Given the description of an element on the screen output the (x, y) to click on. 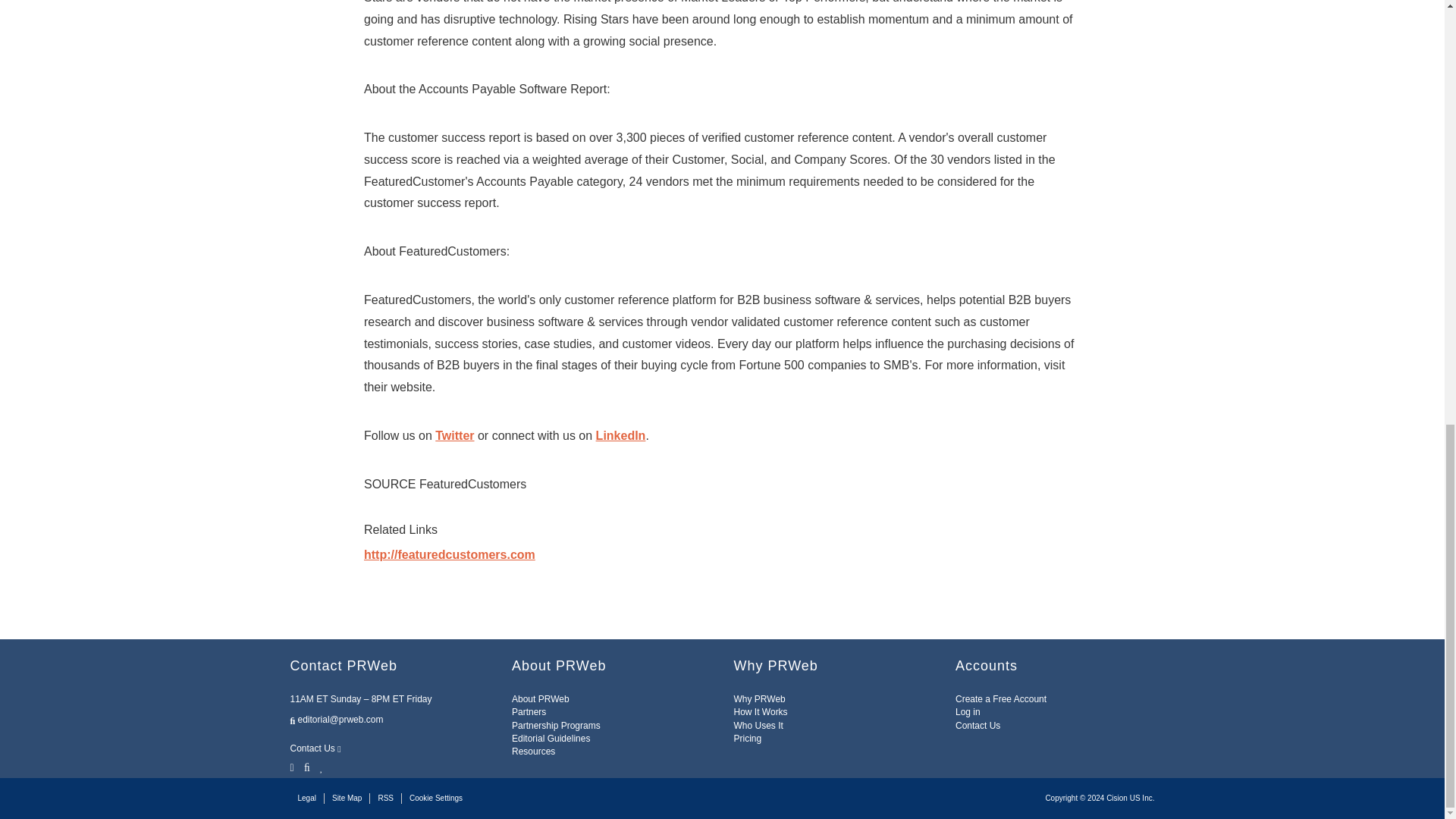
Why PRWeb (759, 698)
About PRWeb (540, 698)
Partners (529, 711)
Partnership Programs (555, 725)
Facebook (306, 766)
Editorial Guidelines (550, 738)
Resources (533, 751)
